Given the description of an element on the screen output the (x, y) to click on. 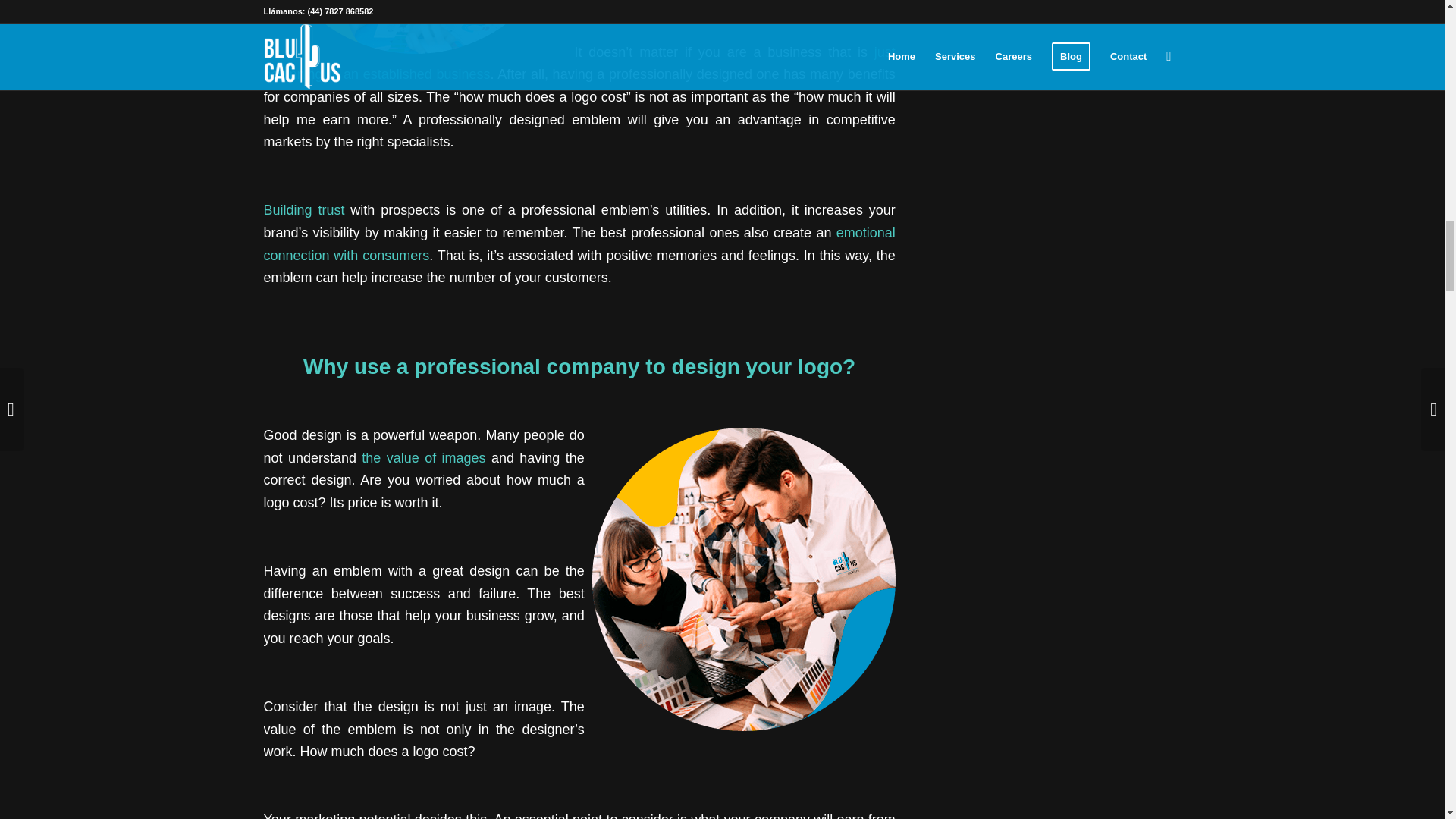
13 simple strategies for building trust communication (304, 209)
Value of images (422, 458)
emotional connection with consumers (579, 243)
The Psychology of Colour (579, 243)
Business Development: Established Businesses vs. Startups (579, 63)
Building trust (304, 209)
the value of images (422, 458)
just beginning or an established business (579, 63)
